Given the description of an element on the screen output the (x, y) to click on. 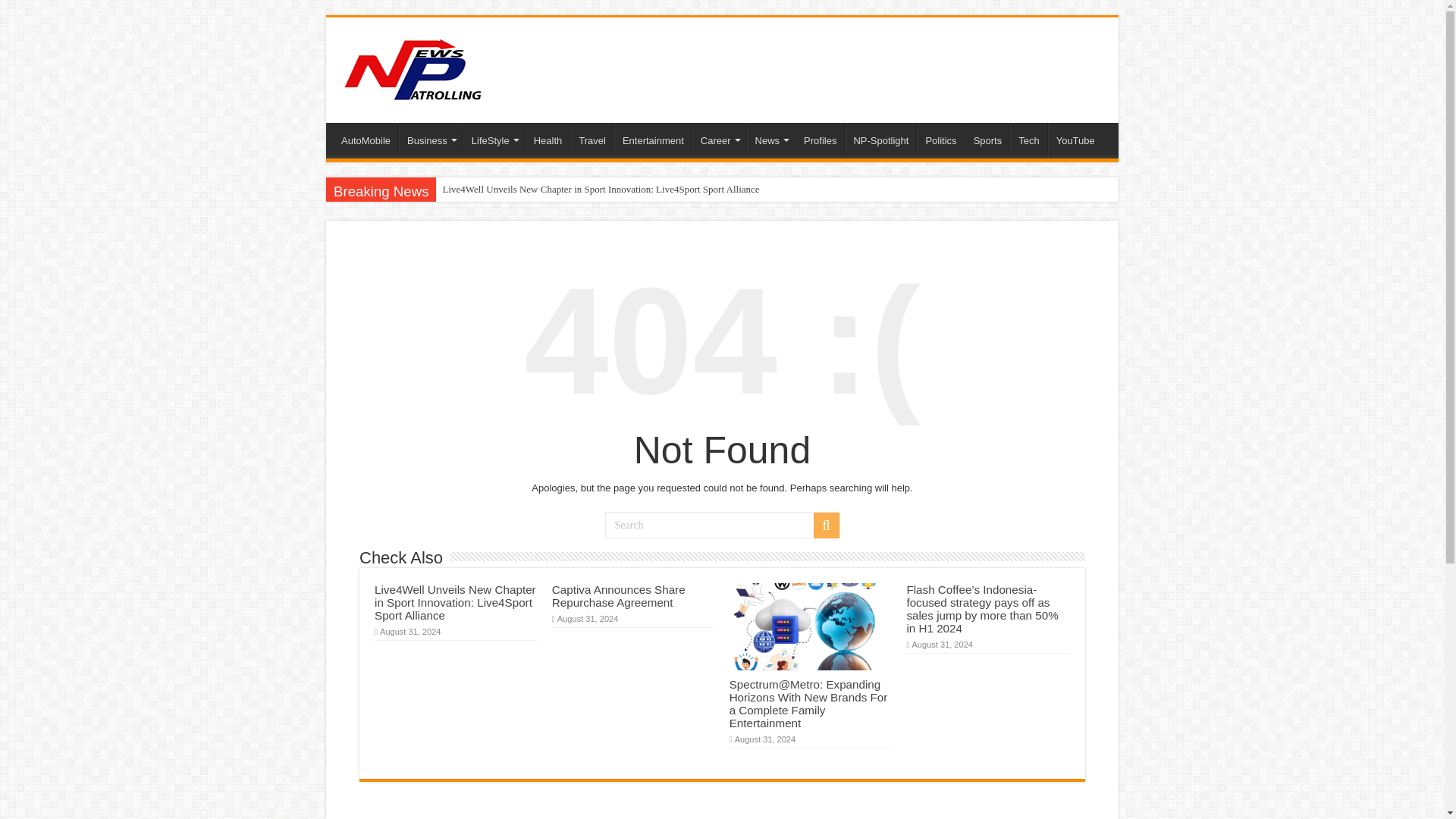
Search (722, 524)
Health (547, 138)
AutoMobile (365, 138)
Travel (591, 138)
Business (430, 138)
LifeStyle (493, 138)
Newspatrolling.com (413, 67)
